Given the description of an element on the screen output the (x, y) to click on. 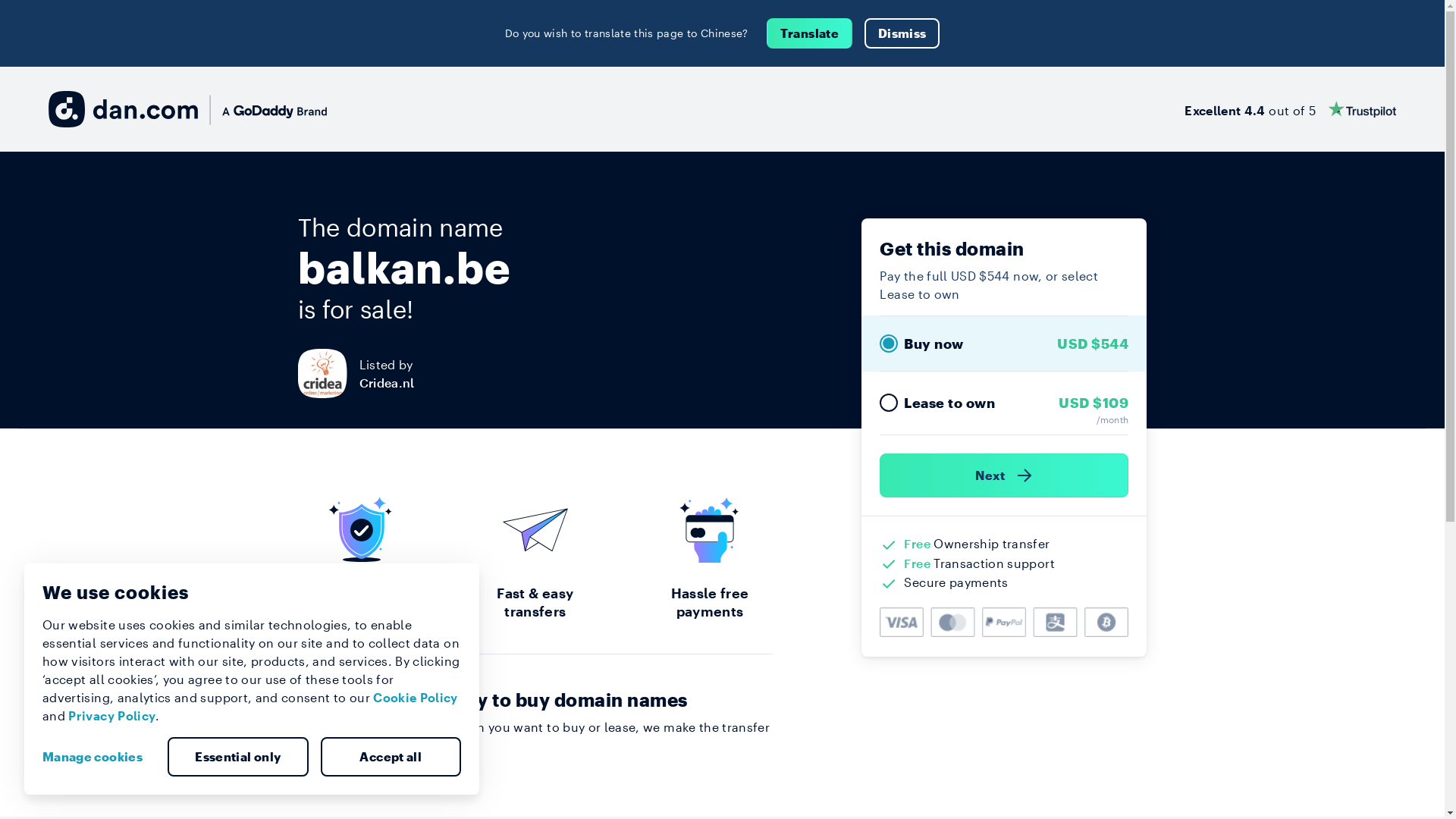
Essential only Element type: text (237, 756)
Excellent 4.4 out of 5 Element type: text (1290, 109)
Accept all Element type: text (390, 756)
Privacy Policy Element type: text (111, 715)
Next
) Element type: text (1003, 475)
Manage cookies Element type: text (98, 756)
Cookie Policy Element type: text (415, 697)
Translate Element type: text (809, 33)
Dismiss Element type: text (901, 33)
